Given the description of an element on the screen output the (x, y) to click on. 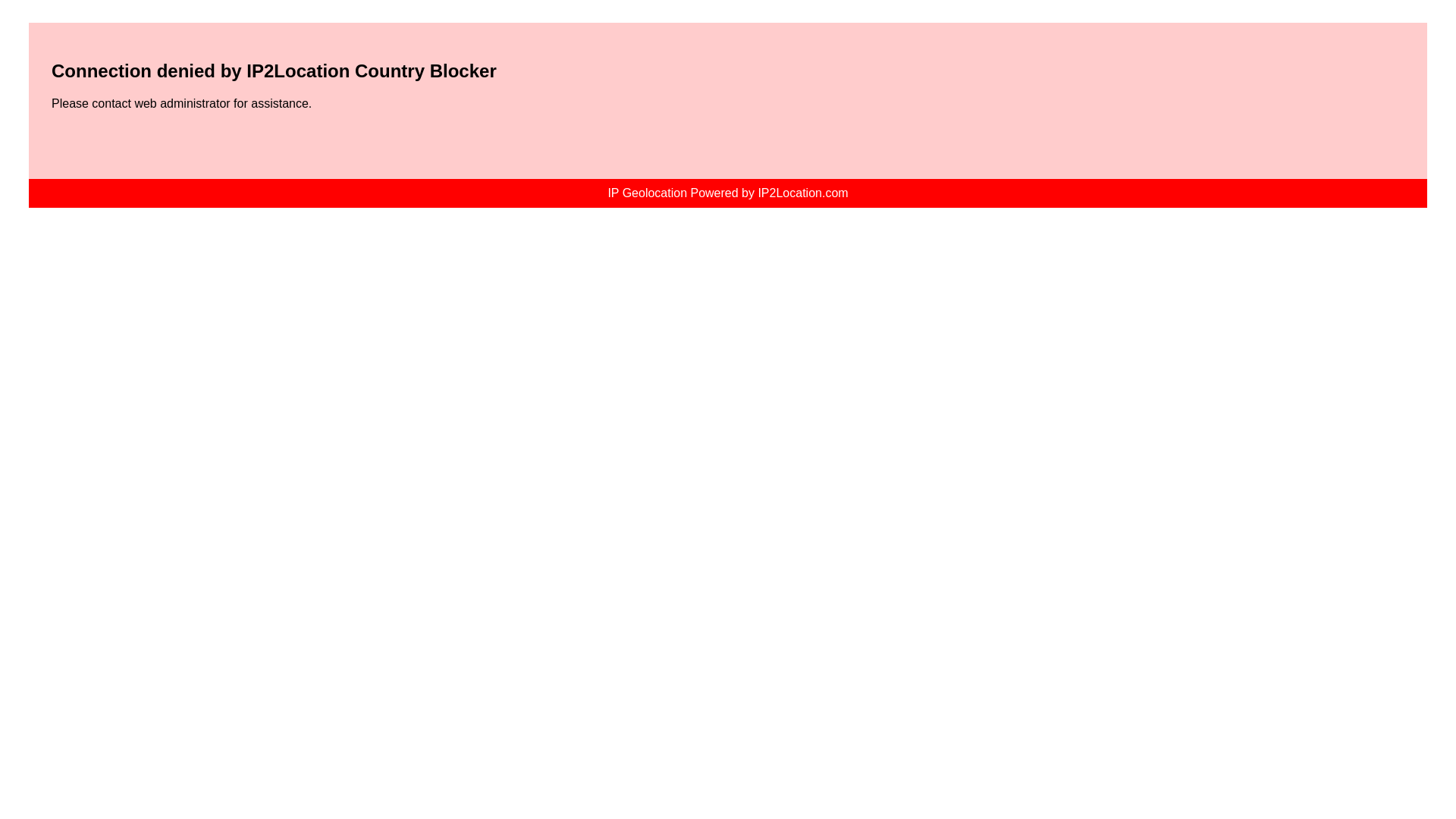
IP Geolocation Powered by IP2Location.com (727, 192)
